Given the description of an element on the screen output the (x, y) to click on. 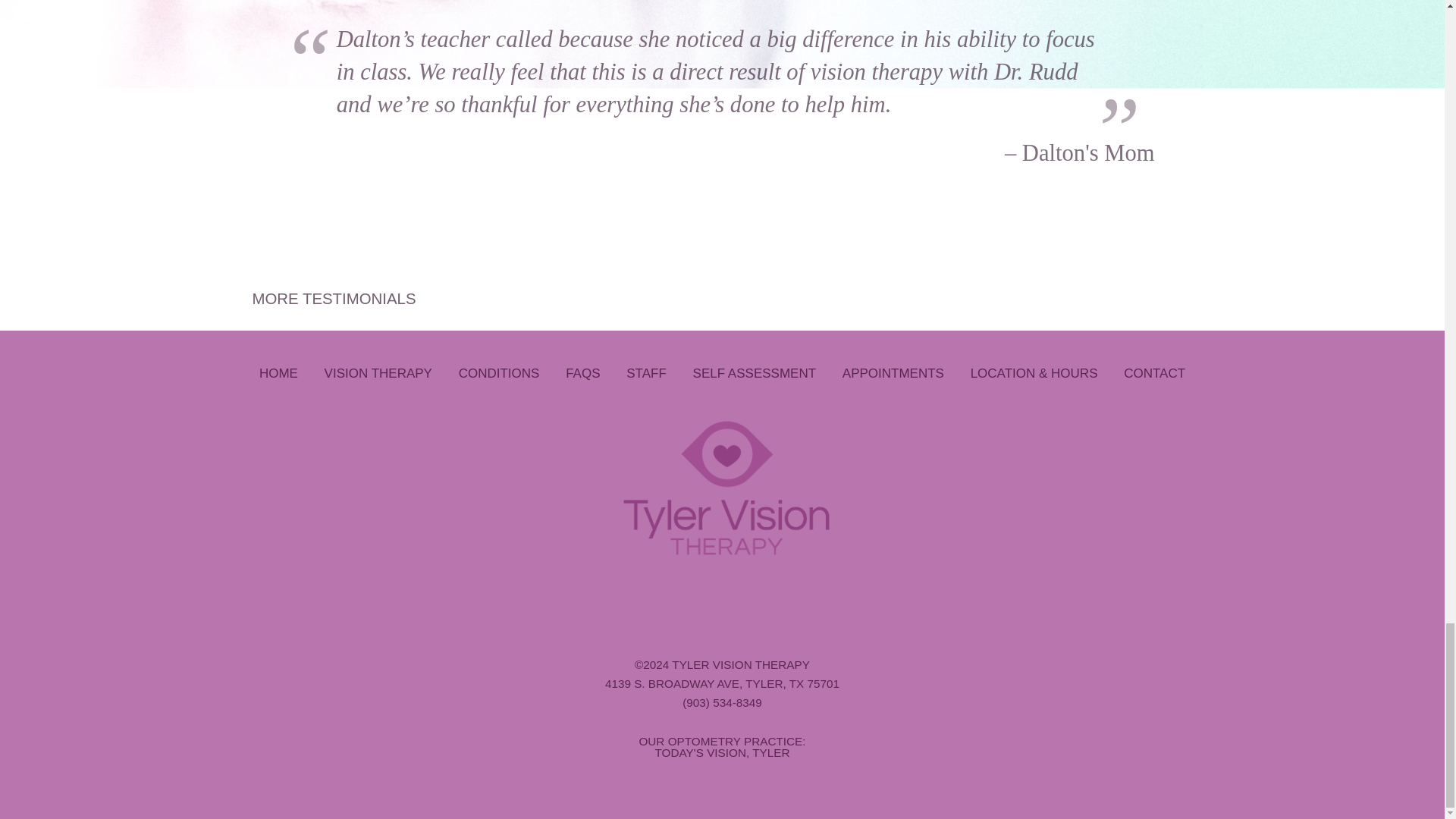
TODAY'S VISION, TYLER (721, 752)
FAQS (582, 373)
CONTACT (1154, 373)
APPOINTMENTS (892, 373)
HOME (278, 373)
TYLER VISION THERAPY (740, 664)
SELF ASSESSMENT (754, 373)
Follow us on Twitter (700, 600)
VISION THERAPY (378, 373)
Follow us on YouTube (742, 600)
